Given the description of an element on the screen output the (x, y) to click on. 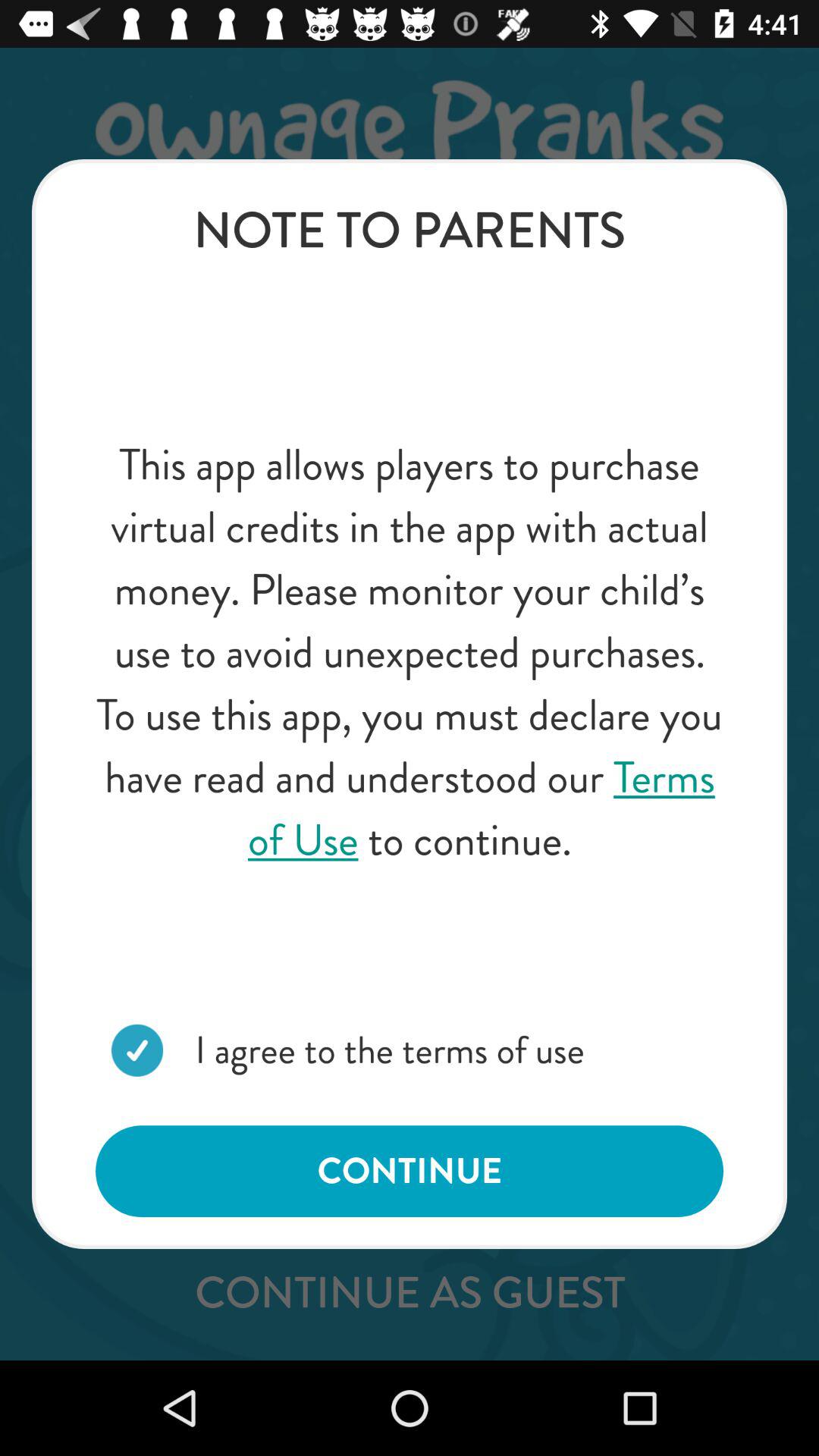
scroll to the this app allows item (409, 652)
